Given the description of an element on the screen output the (x, y) to click on. 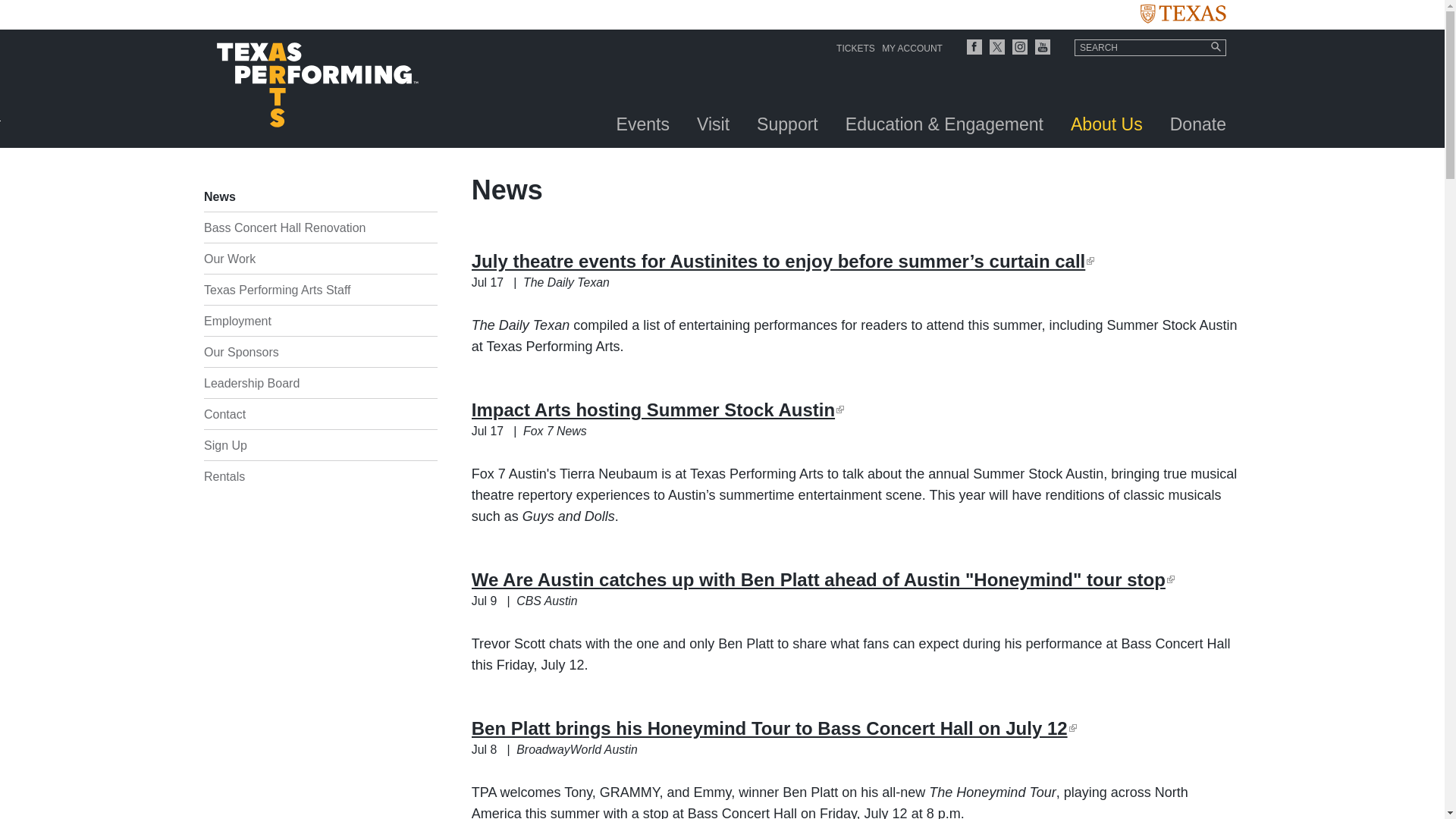
University of Texas (1182, 18)
MY ACCOUNT (911, 48)
SEARCH (1150, 47)
SEARCH (1150, 47)
Home (316, 88)
TICKETS (855, 48)
All Upcoming Events (642, 130)
